Given the description of an element on the screen output the (x, y) to click on. 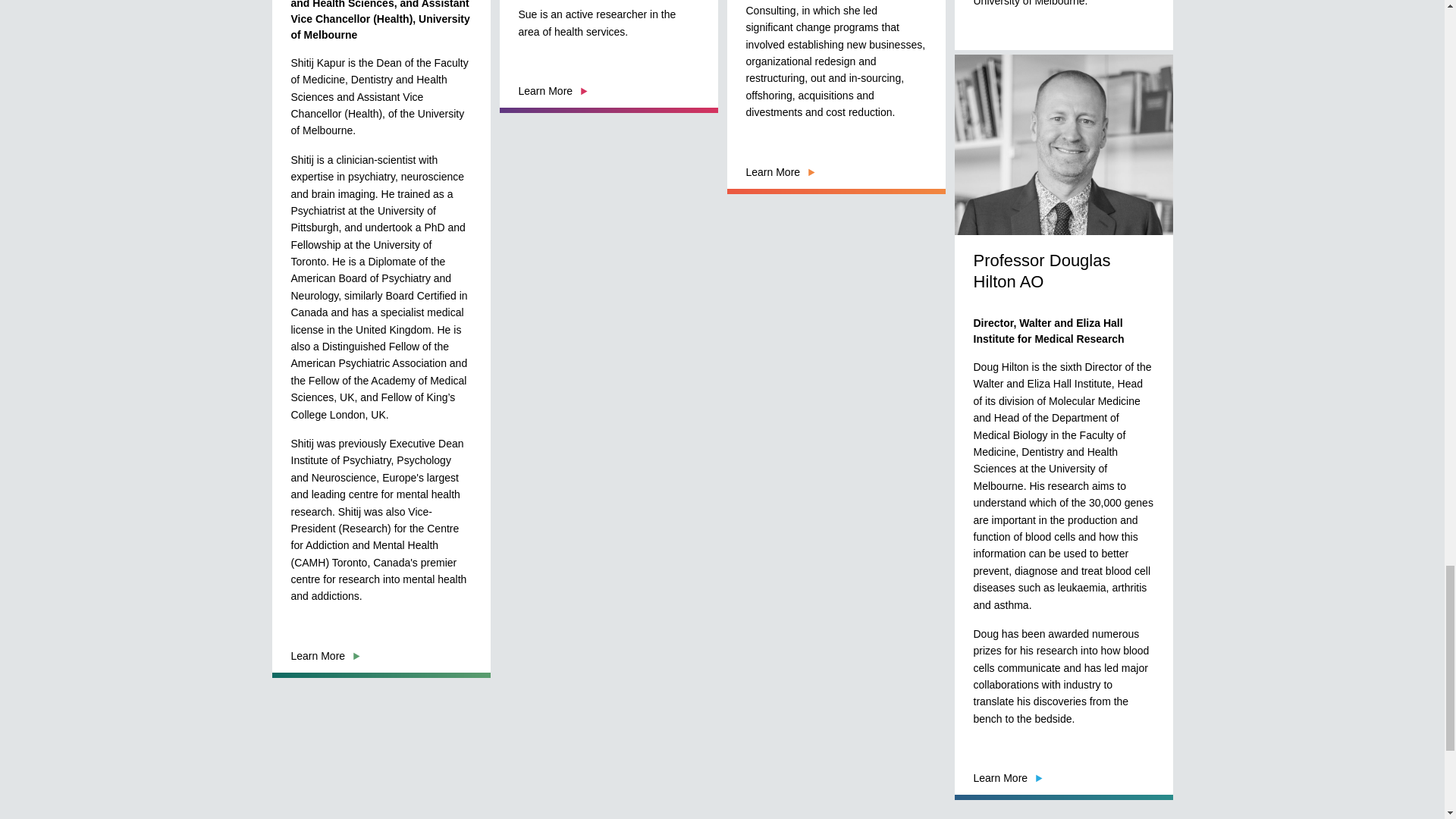
Learn More (553, 91)
Learn More (780, 172)
Learn More (1008, 60)
